Given the description of an element on the screen output the (x, y) to click on. 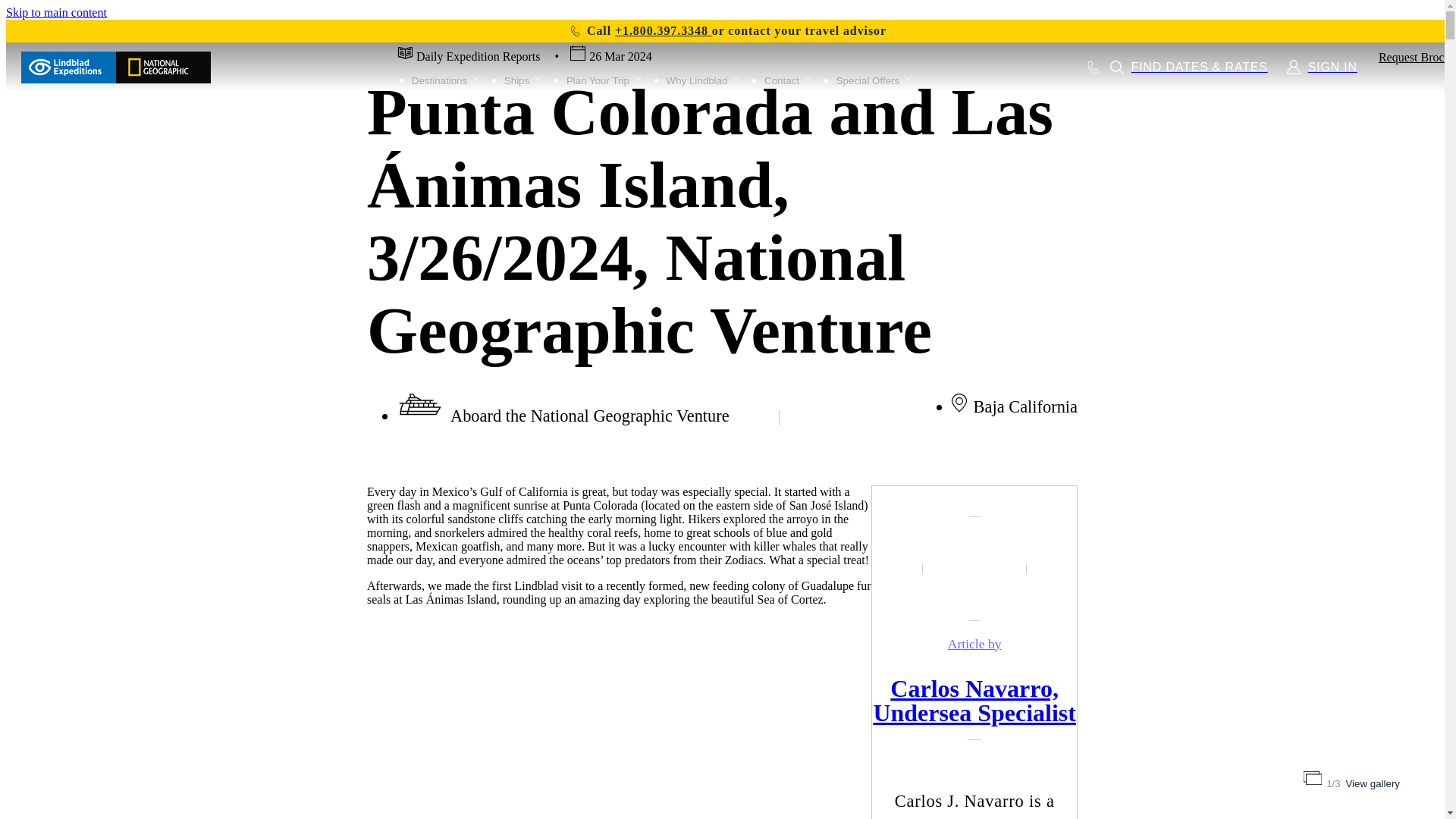
Skip to main content (55, 11)
Destinations (446, 79)
